Given the description of an element on the screen output the (x, y) to click on. 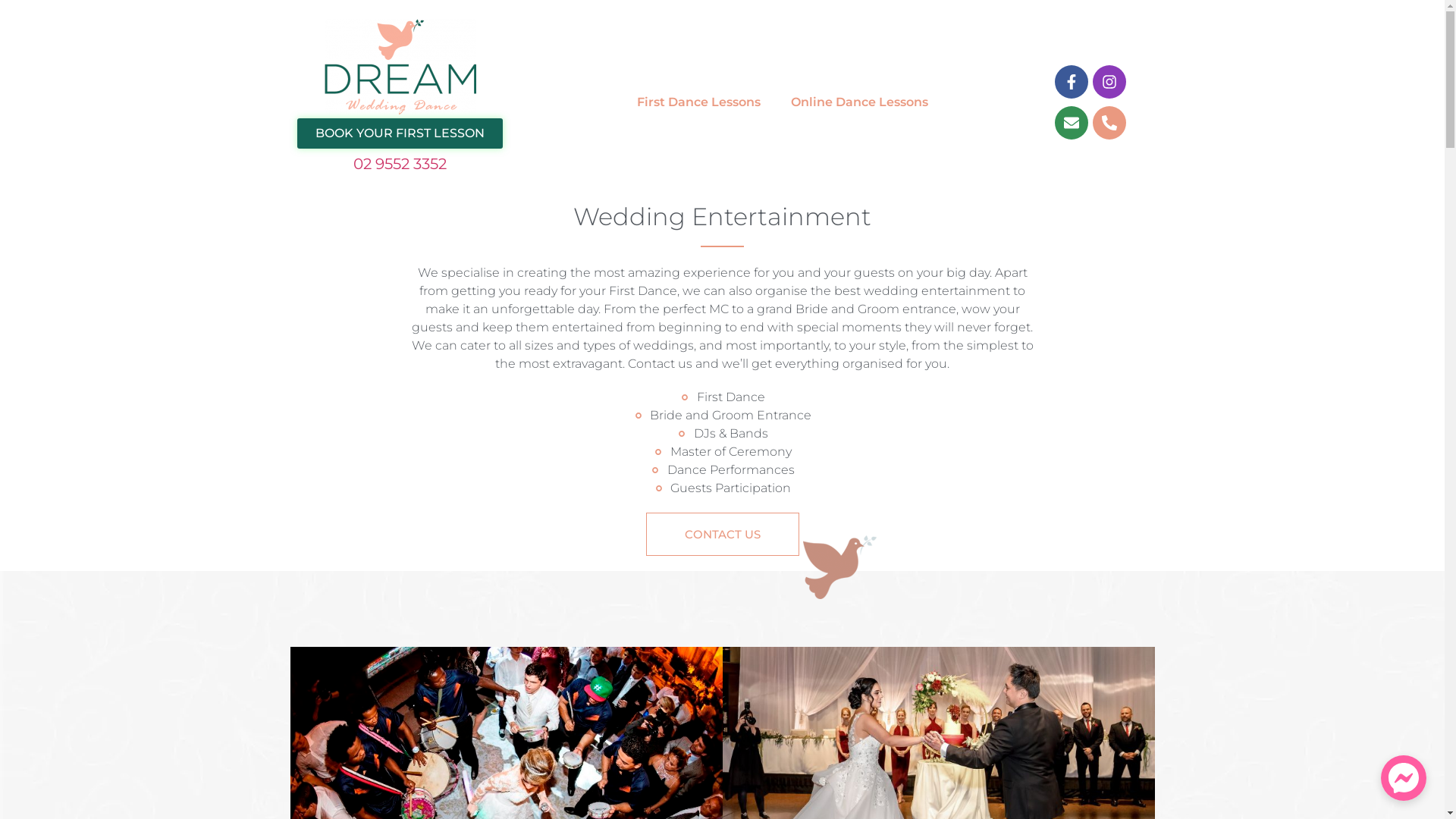
BOOK YOUR FIRST LESSON Element type: text (399, 133)
Online Dance Lessons Element type: text (859, 101)
02 9552 3352 Element type: text (399, 163)
First Dance Lessons Element type: text (698, 101)
CONTACT US Element type: text (722, 533)
